Given the description of an element on the screen output the (x, y) to click on. 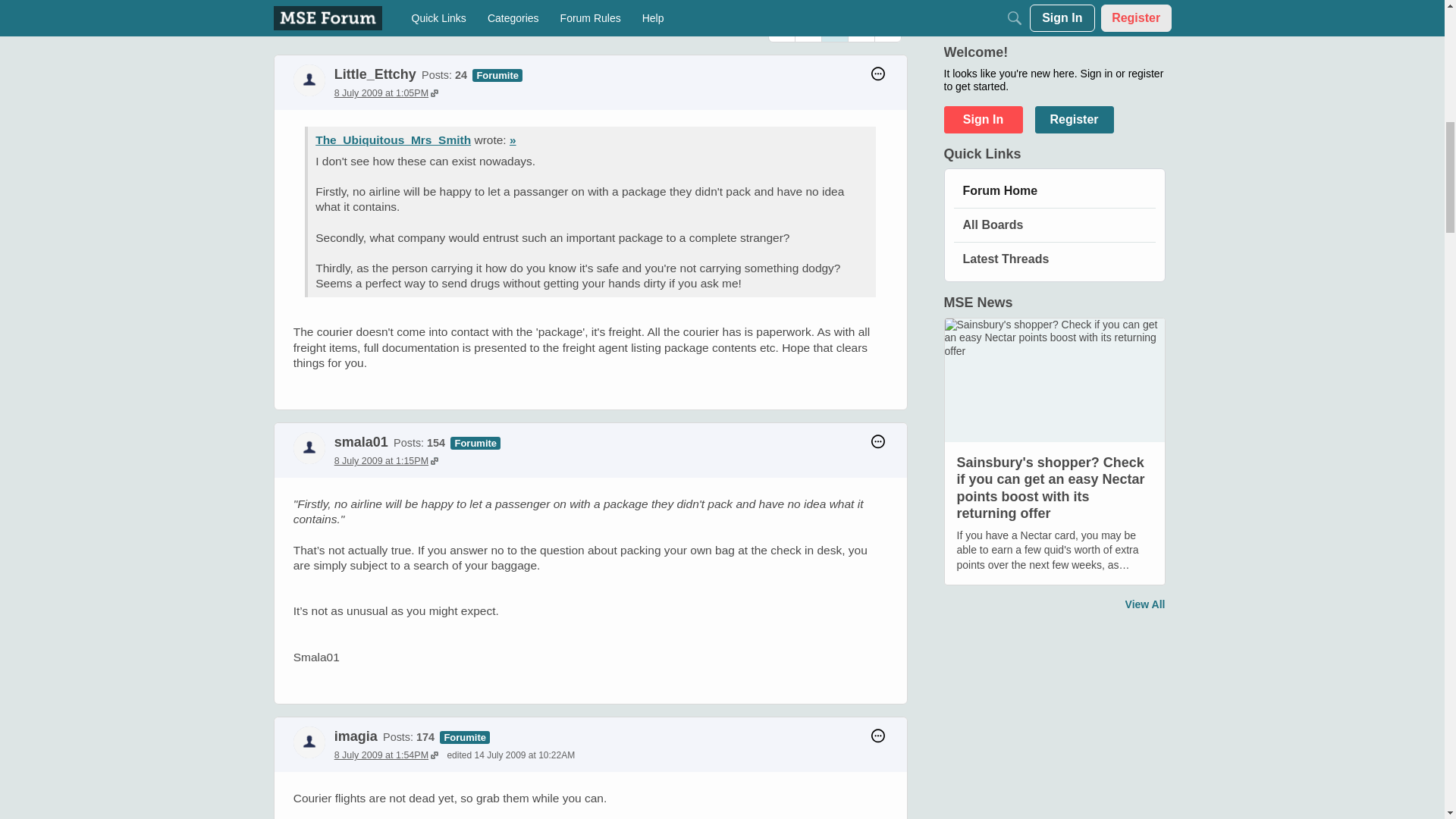
Forumite (464, 737)
Forumite (496, 74)
Previous Page (780, 28)
8 July 2009 at 1:15PM (386, 460)
smala01 (309, 448)
imagia (309, 742)
3 (861, 28)
1 (808, 28)
8 July 2009 at 1:54PM (386, 755)
Next Page (887, 28)
8 July 2009 at 1:54PM (386, 755)
smala01 (361, 441)
2 (834, 28)
Edited 14 July 2009 at 10:22AM. (510, 755)
8 July 2009 at 1:15PM (386, 460)
